Given the description of an element on the screen output the (x, y) to click on. 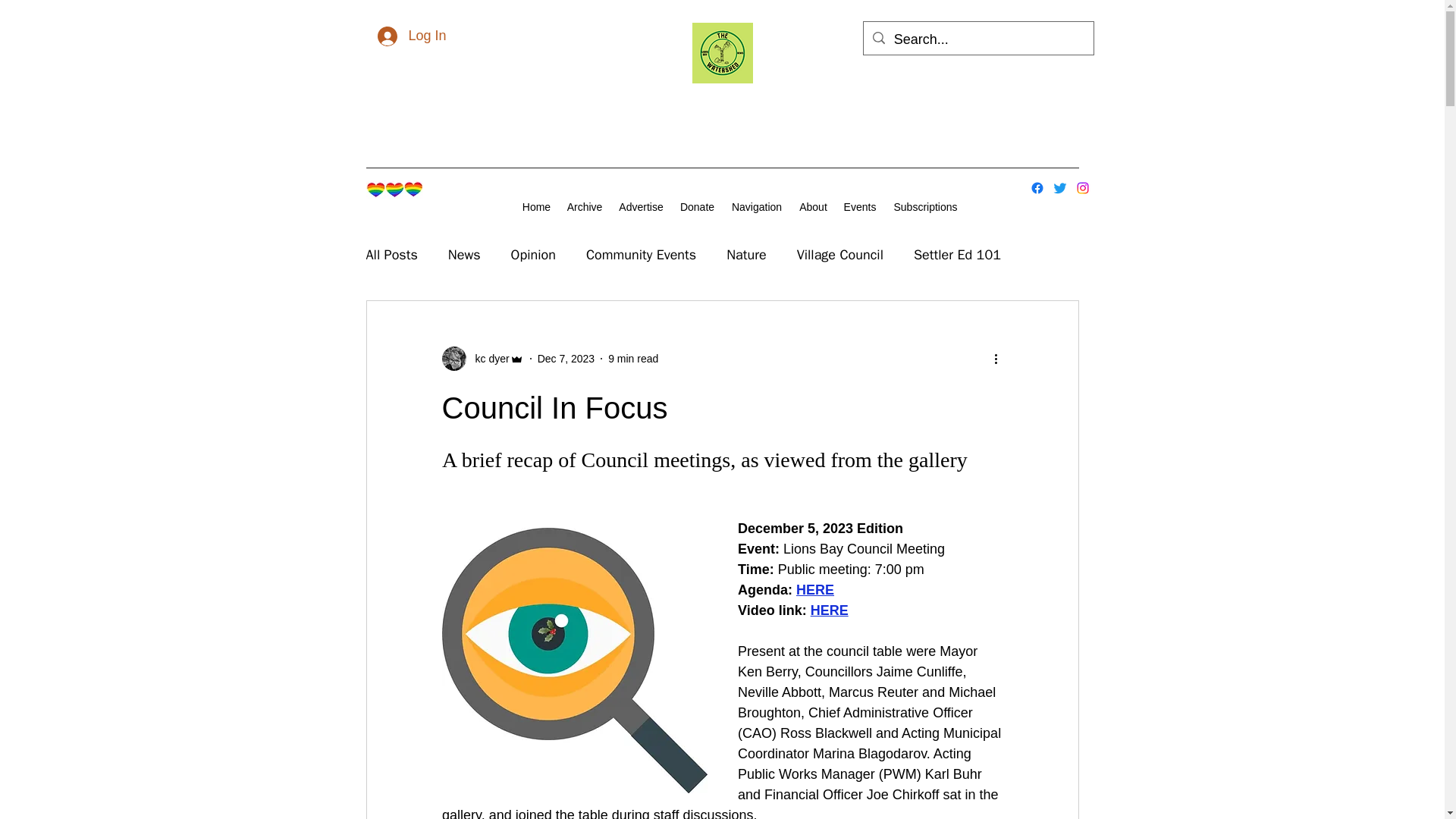
Subscriptions (924, 206)
Archive (584, 206)
Dec 7, 2023 (566, 357)
All Posts (390, 254)
News (464, 254)
Opinion (533, 254)
About (812, 206)
Settler Ed 101 (957, 254)
Advertise (640, 206)
Home (536, 206)
